Given the description of an element on the screen output the (x, y) to click on. 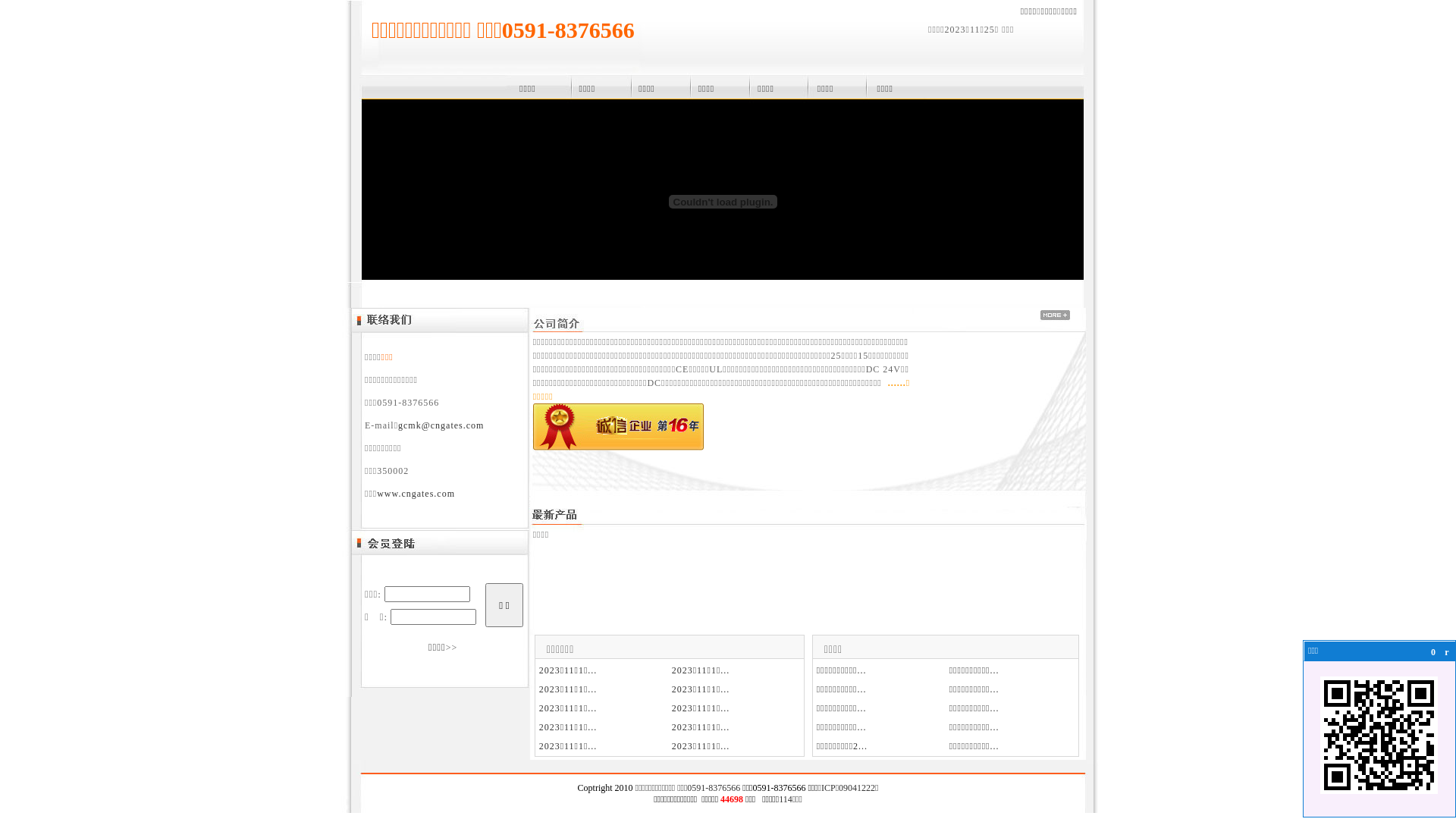
0 Element type: text (1433, 652)
www.cngates.com Element type: text (415, 493)
r Element type: text (1446, 652)
gcmk@cngates.com Element type: text (440, 425)
